Given the description of an element on the screen output the (x, y) to click on. 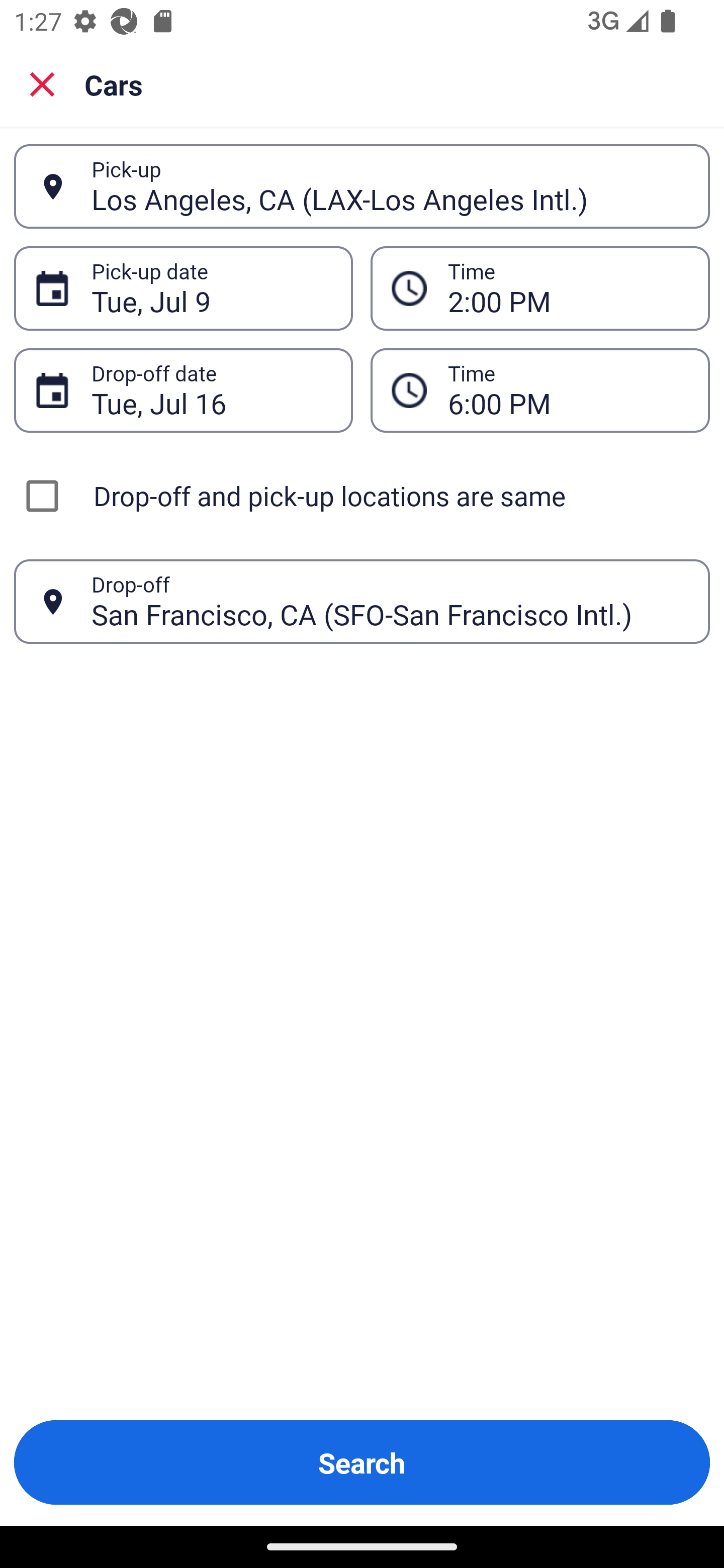
Close search screen (42, 84)
Los Angeles, CA (LAX-Los Angeles Intl.) (389, 186)
Tue, Jul 9 (211, 288)
2:00 PM (568, 288)
Tue, Jul 16 (211, 390)
6:00 PM (568, 390)
Drop-off and pick-up locations are same (361, 495)
San Francisco, CA (SFO-San Francisco Intl.) (389, 601)
Search Button Search (361, 1462)
